Given the description of an element on the screen output the (x, y) to click on. 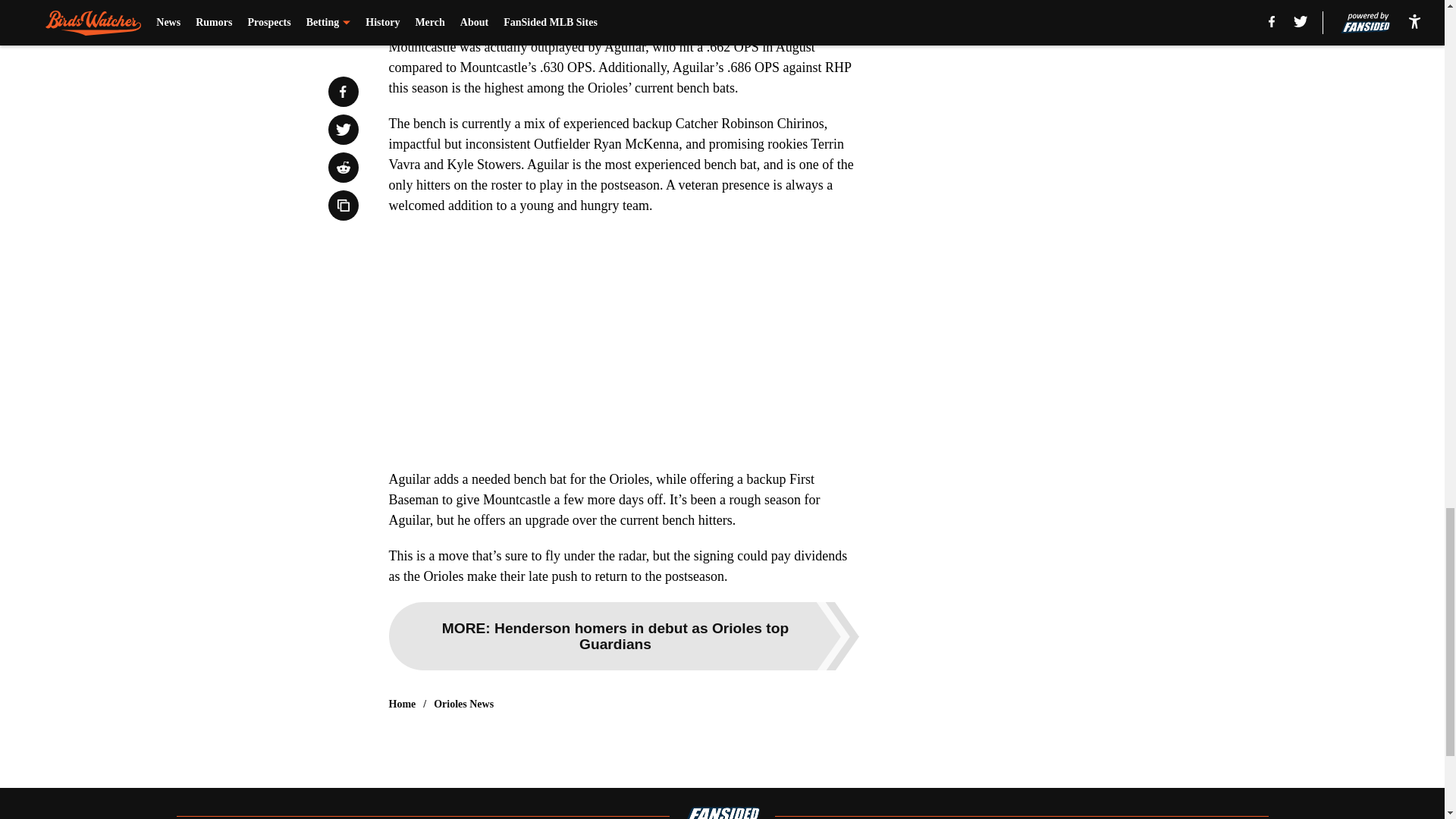
Orioles News (463, 703)
MORE: Henderson homers in debut as Orioles top Guardians (623, 635)
Home (401, 703)
